Given the description of an element on the screen output the (x, y) to click on. 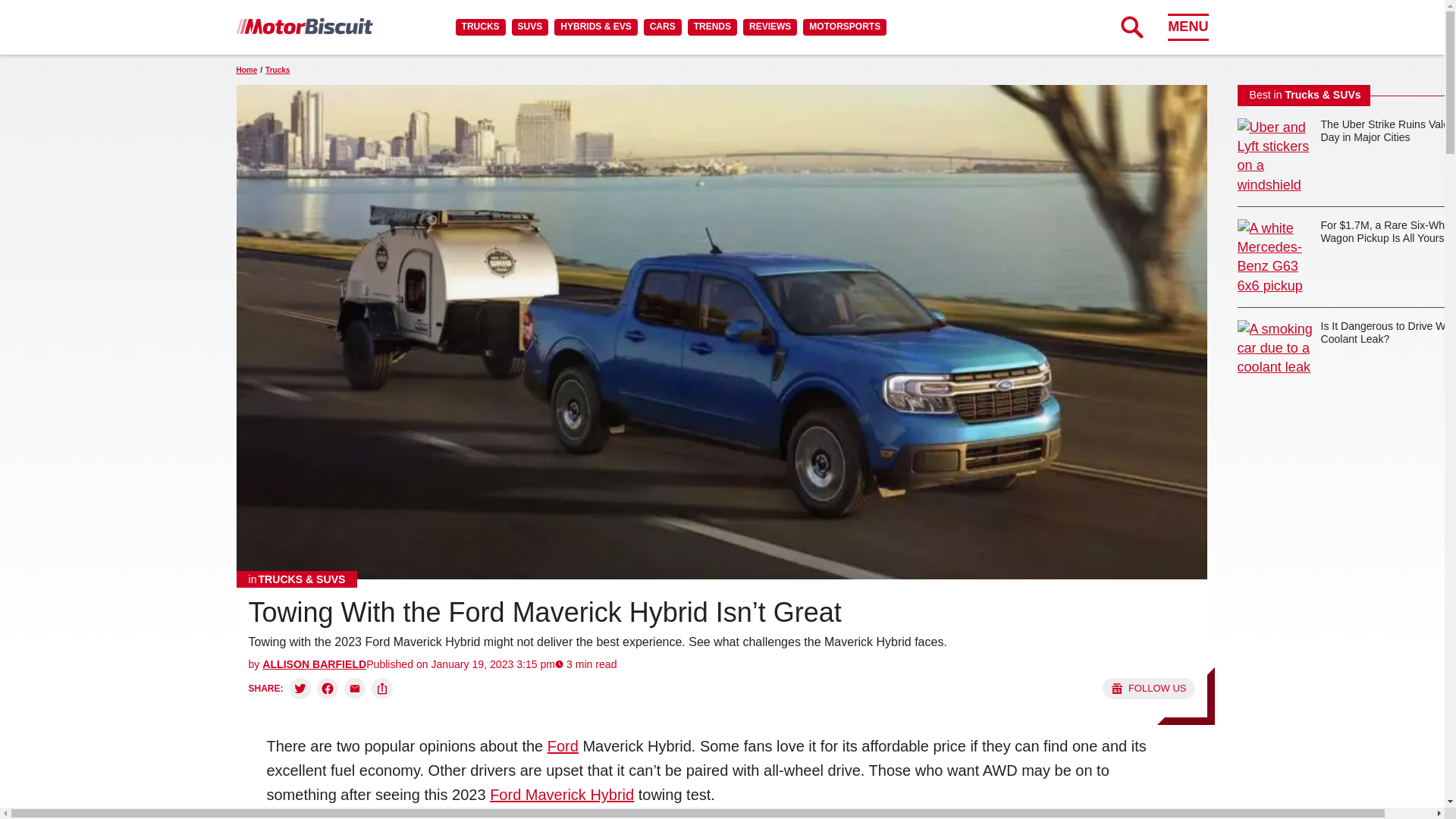
MENU (1187, 26)
CARS (662, 26)
TRUCKS (480, 26)
SUVS (530, 26)
Copy link and share:  (382, 688)
MOTORSPORTS (844, 26)
Follow us on Google News (1148, 688)
REVIEWS (769, 26)
Expand Search (1131, 26)
